Given the description of an element on the screen output the (x, y) to click on. 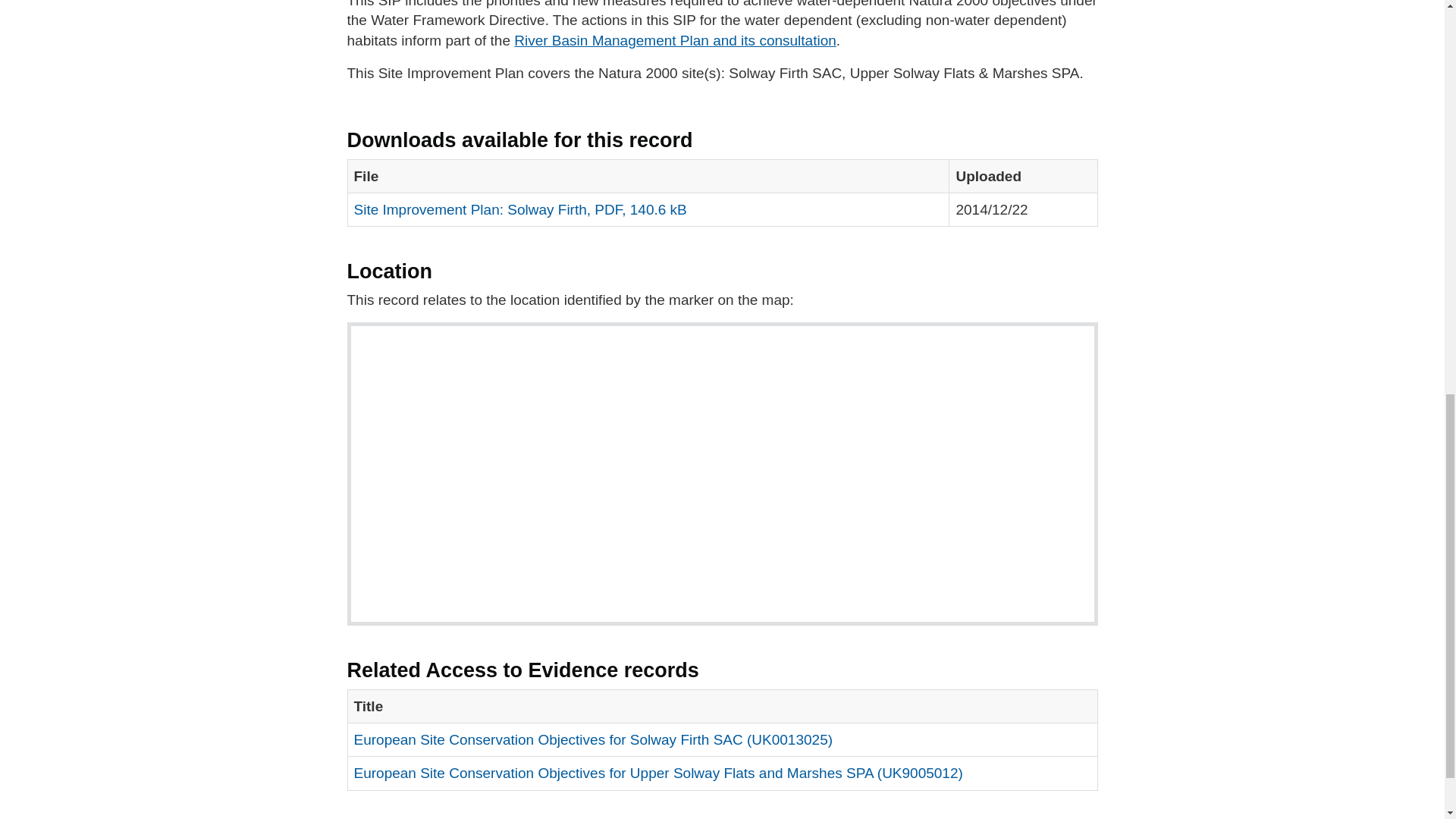
title tooltip (674, 40)
Site Improvement Plan: Solway Firth, PDF, 140.6 kB (519, 209)
River Basin Management Plan and its consultation (674, 40)
